Given the description of an element on the screen output the (x, y) to click on. 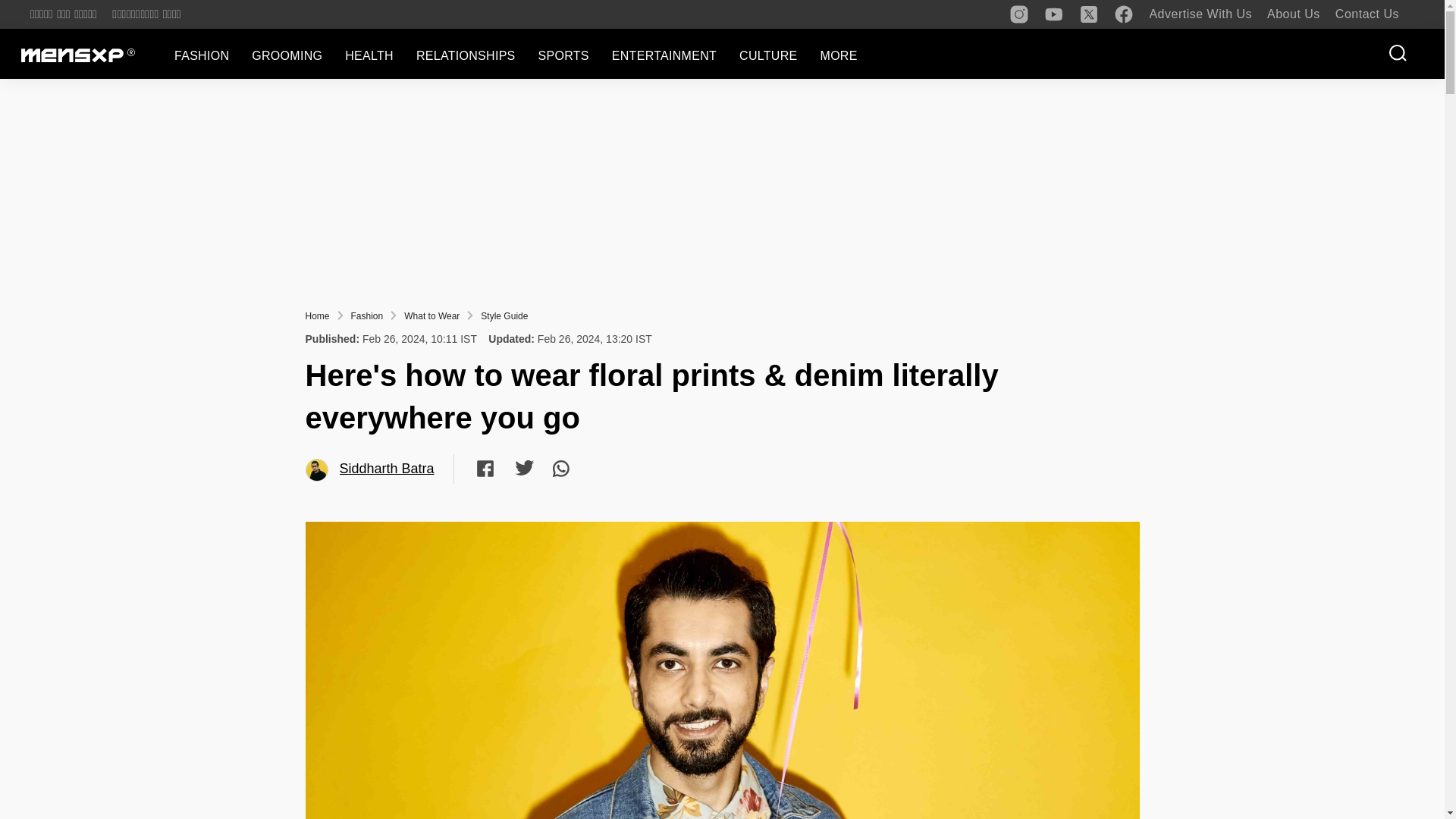
Home (316, 316)
Fashion (367, 316)
What to Wear (432, 316)
Siddharth Batra (317, 470)
About Us (1293, 13)
Contact Us (1367, 13)
Advertise With Us (1200, 13)
Advertise With Us (1200, 13)
Style Guide (503, 316)
Contact Us  (1367, 13)
About Us (1293, 13)
